Given the description of an element on the screen output the (x, y) to click on. 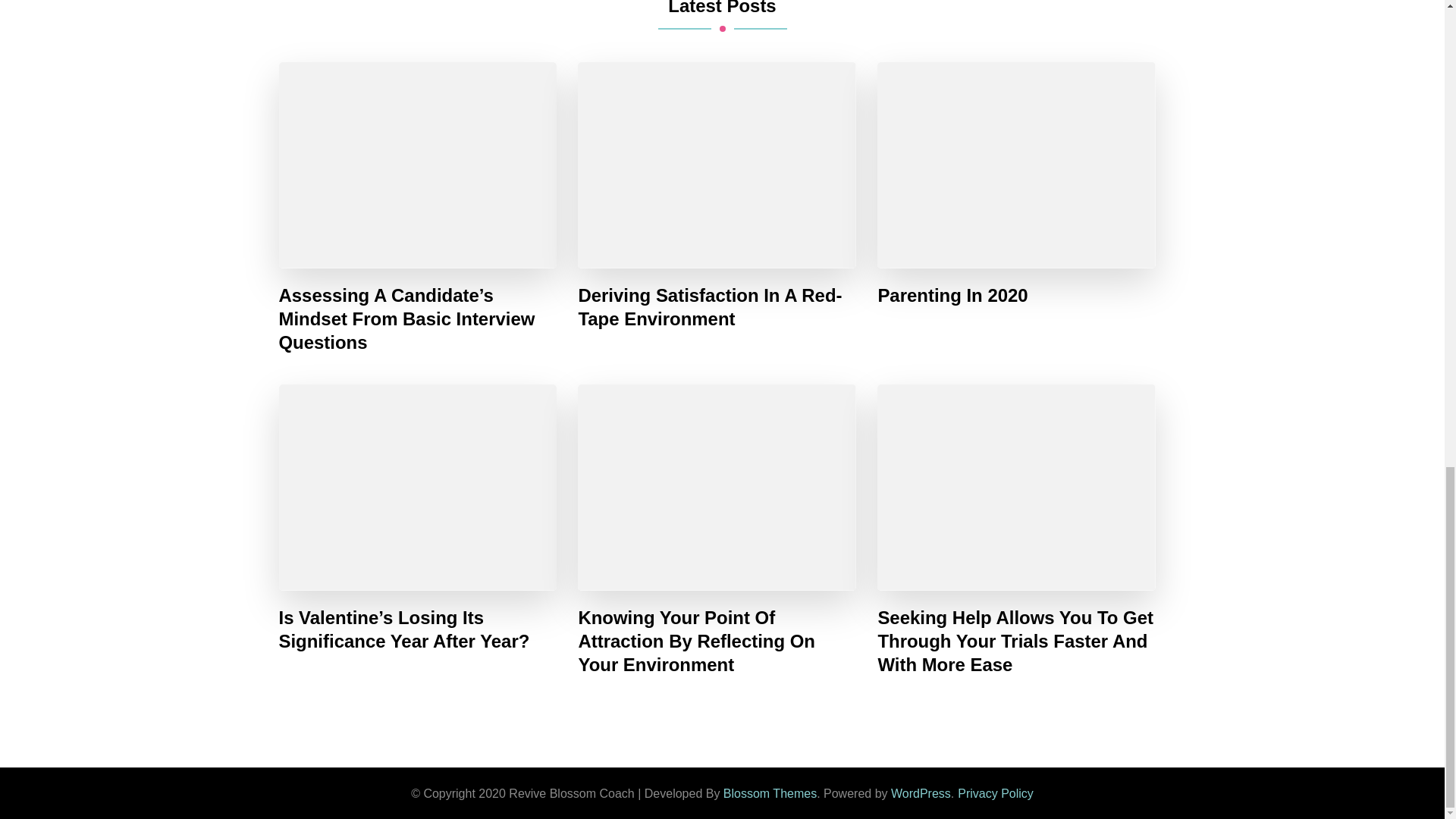
Deriving Satisfaction In A Red-Tape Environment (717, 306)
Privacy Policy (995, 793)
Parenting In 2020 (952, 295)
Blossom Themes (769, 793)
WordPress (920, 793)
